Given the description of an element on the screen output the (x, y) to click on. 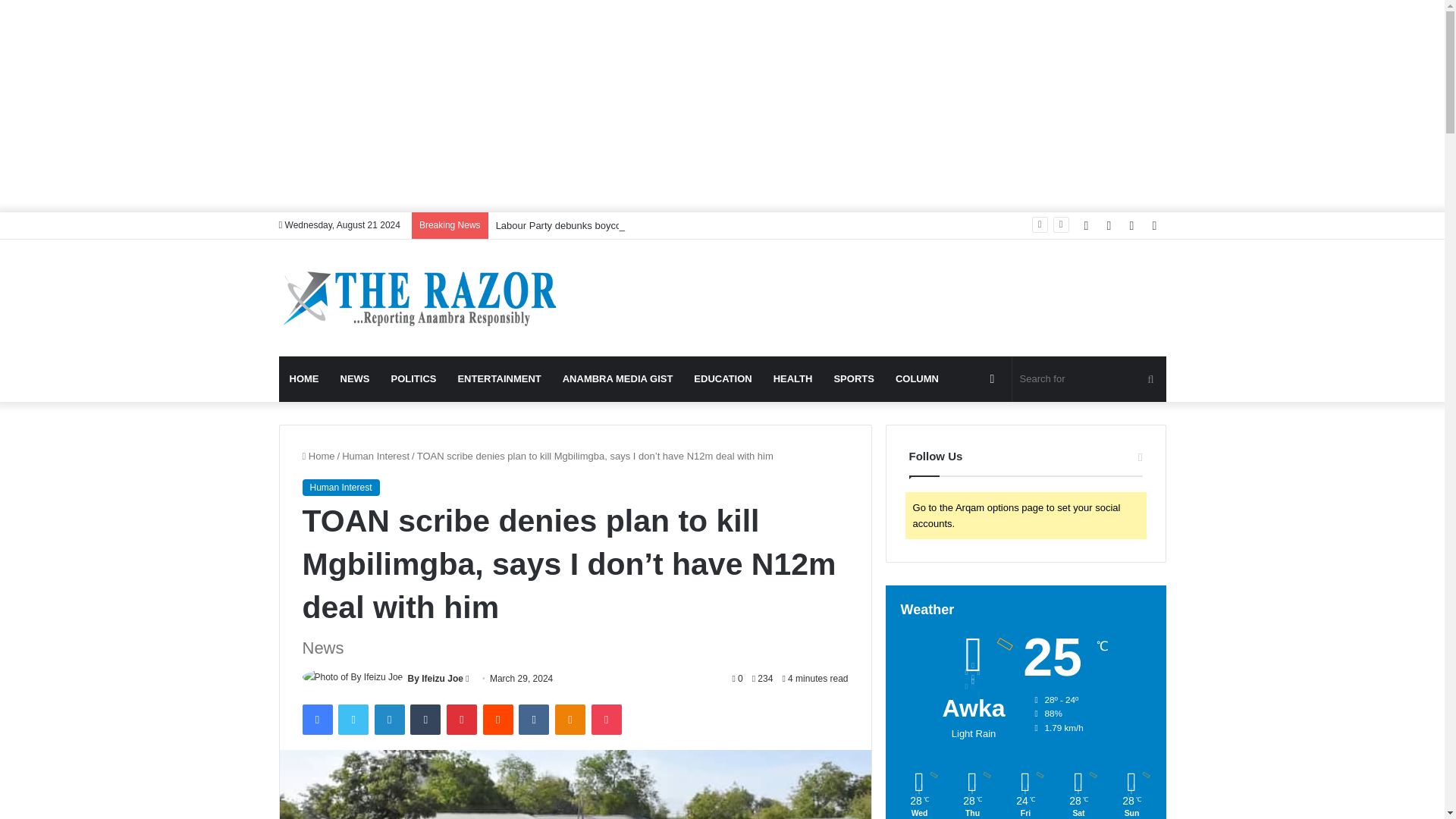
LinkedIn (389, 719)
VKontakte (533, 719)
The Razor News (419, 297)
Human Interest (375, 455)
ANAMBRA MEDIA GIST (617, 379)
HOME (304, 379)
Facebook (316, 719)
Pinterest (461, 719)
NEWS (354, 379)
Reddit (498, 719)
